Given the description of an element on the screen output the (x, y) to click on. 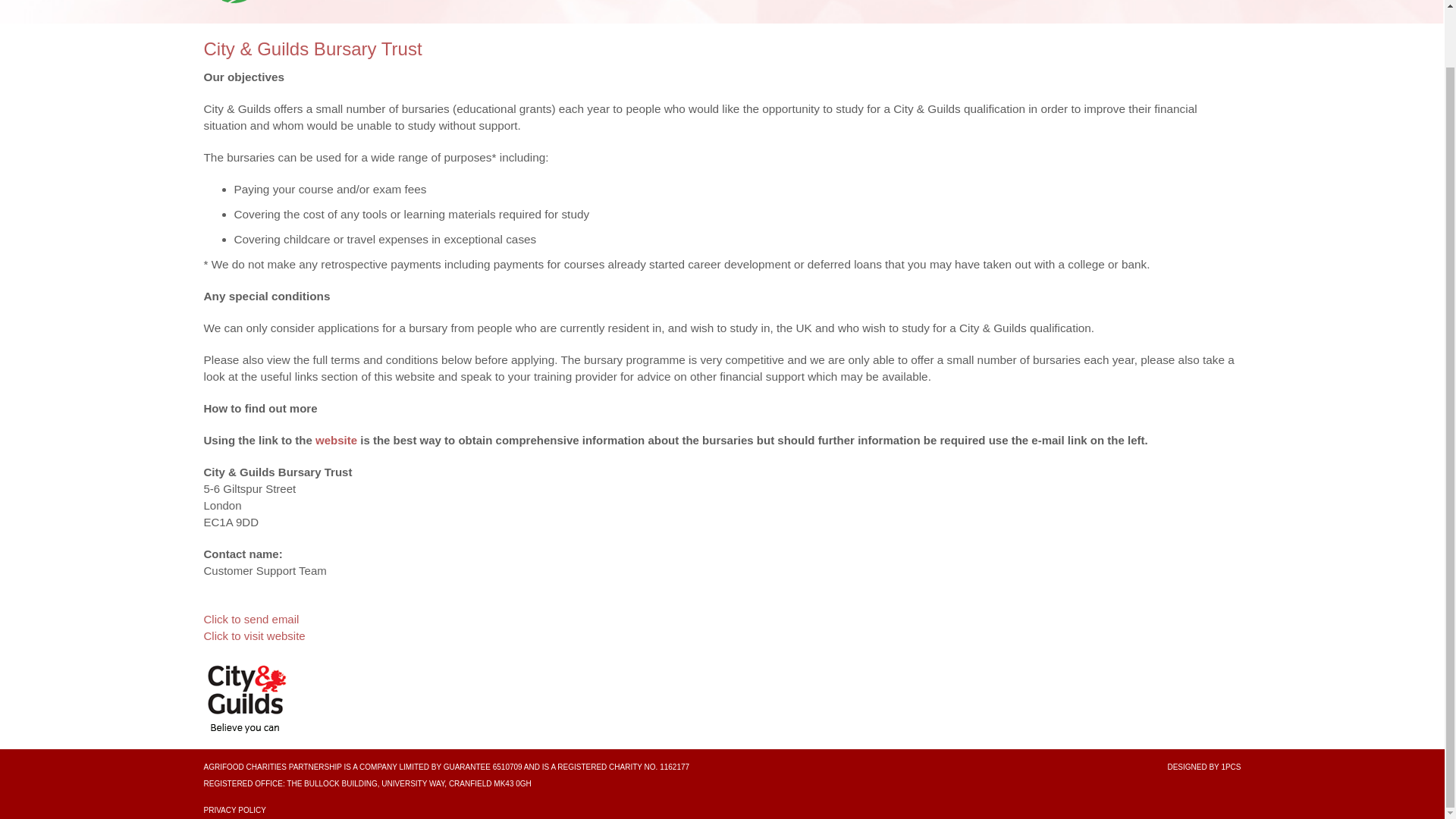
Click to send email (250, 618)
1PCS (1230, 766)
PRIVACY POLICY (233, 809)
Click to visit website (253, 635)
website (335, 440)
